Given the description of an element on the screen output the (x, y) to click on. 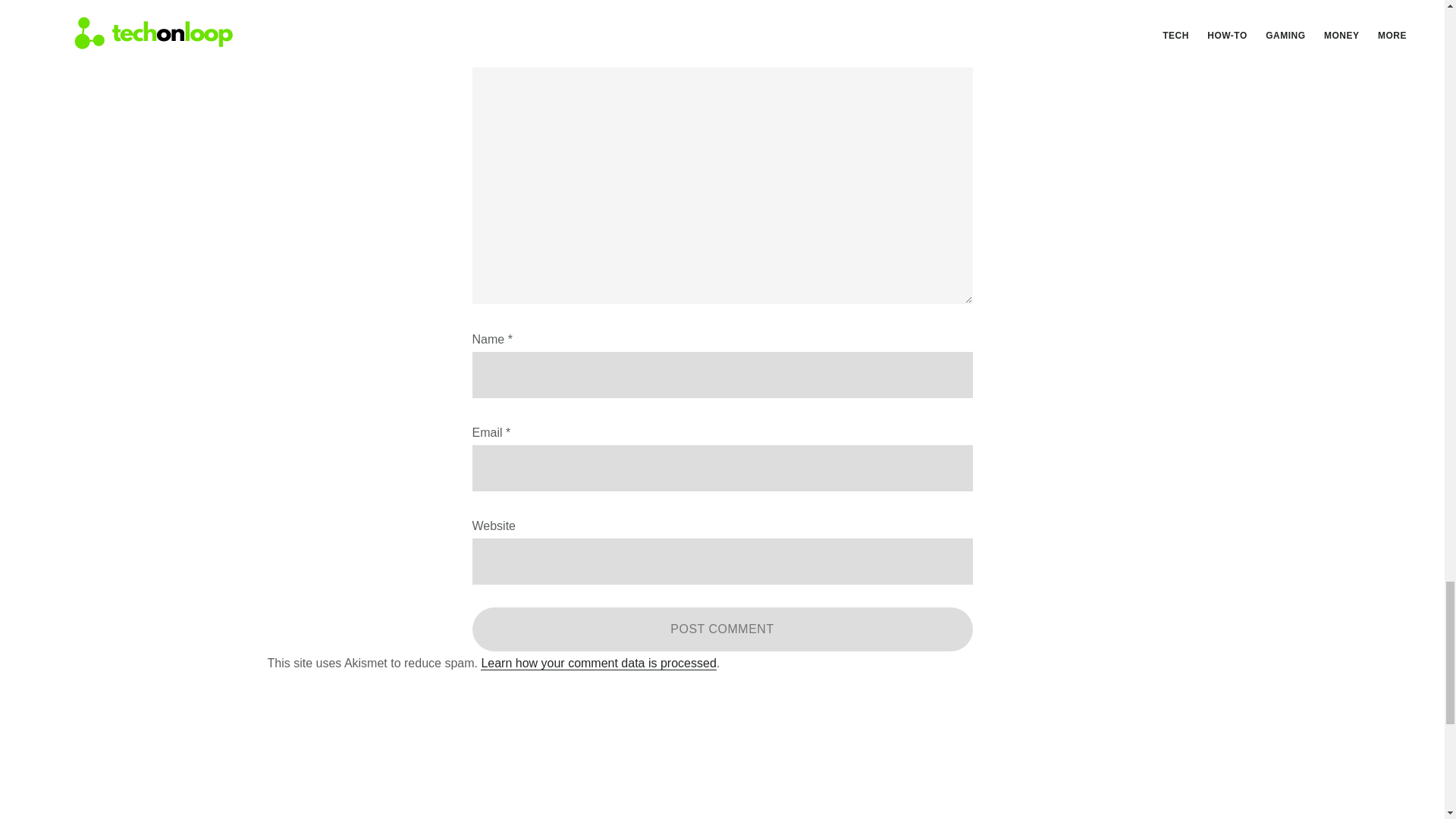
Post Comment (721, 629)
Post Comment (721, 629)
Learn how your comment data is processed (598, 663)
